Given the description of an element on the screen output the (x, y) to click on. 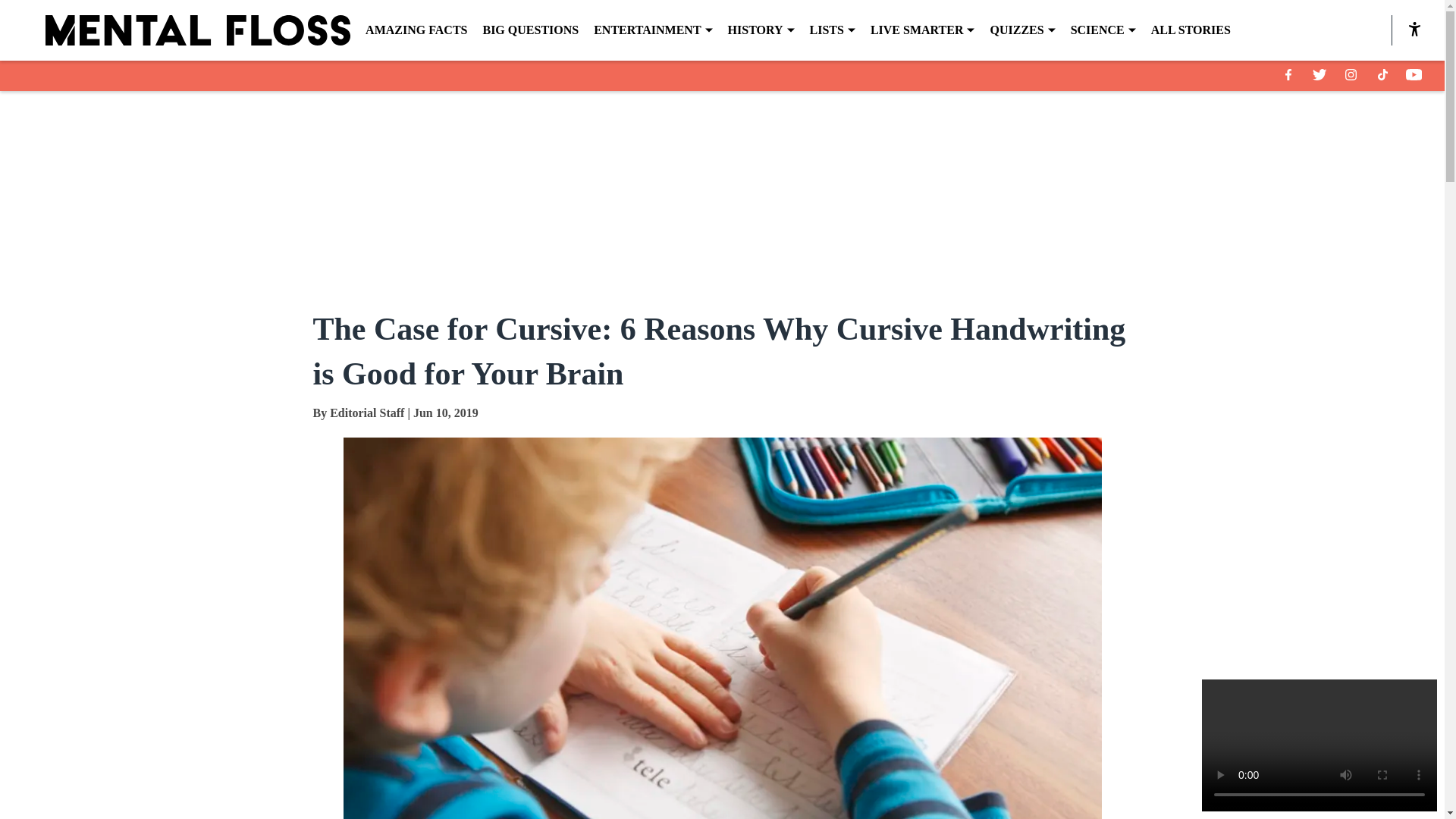
BIG QUESTIONS (529, 30)
AMAZING FACTS (416, 30)
ALL STORIES (1190, 30)
